Given the description of an element on the screen output the (x, y) to click on. 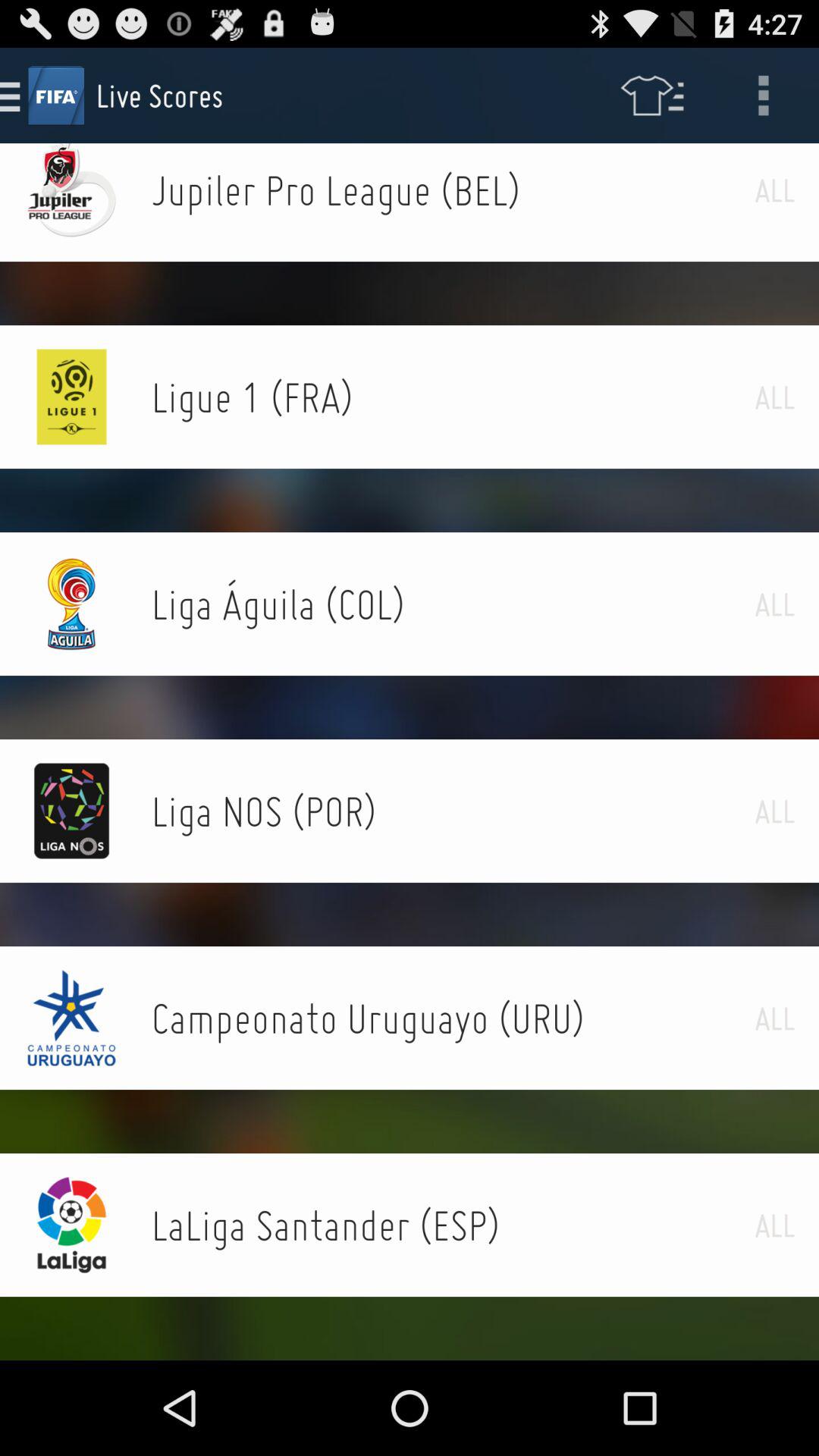
flip until jupiler pro league item (452, 189)
